Given the description of an element on the screen output the (x, y) to click on. 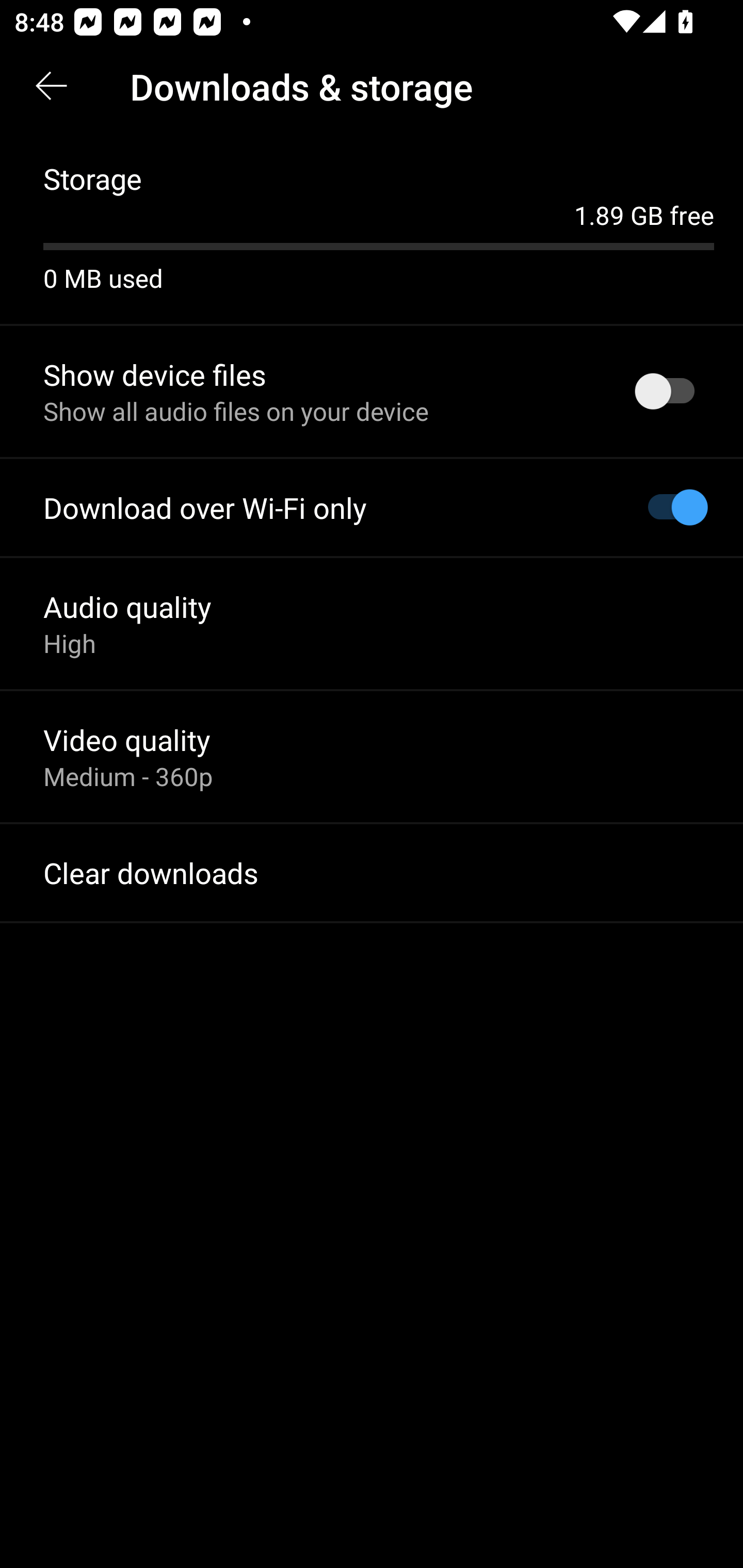
Back (50, 86)
Download over Wi-Fi only (371, 507)
Audio quality High (371, 623)
Video quality Medium - 360p (371, 756)
Clear downloads (371, 872)
